Given the description of an element on the screen output the (x, y) to click on. 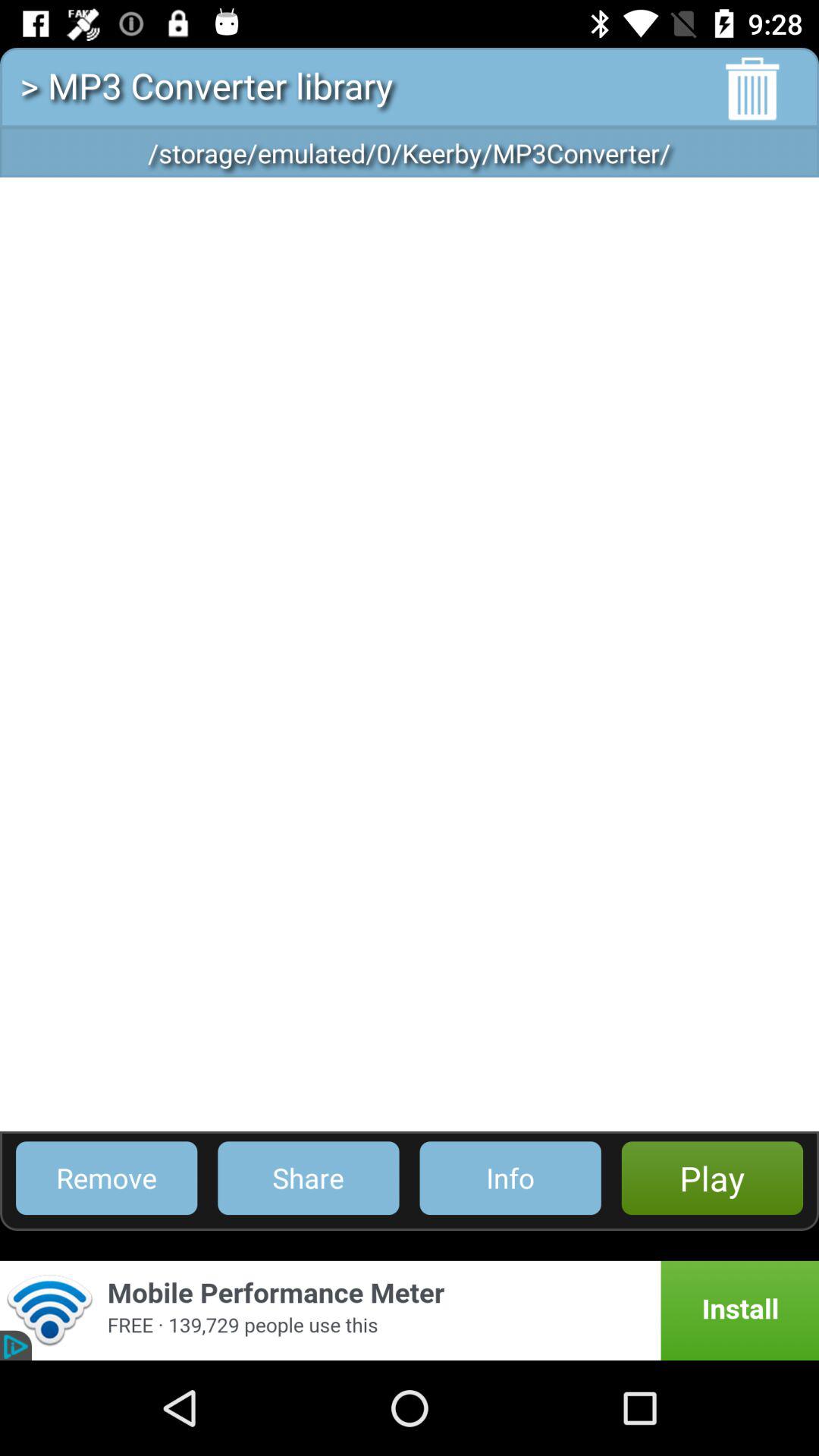
open the icon at the top right corner (752, 89)
